Given the description of an element on the screen output the (x, y) to click on. 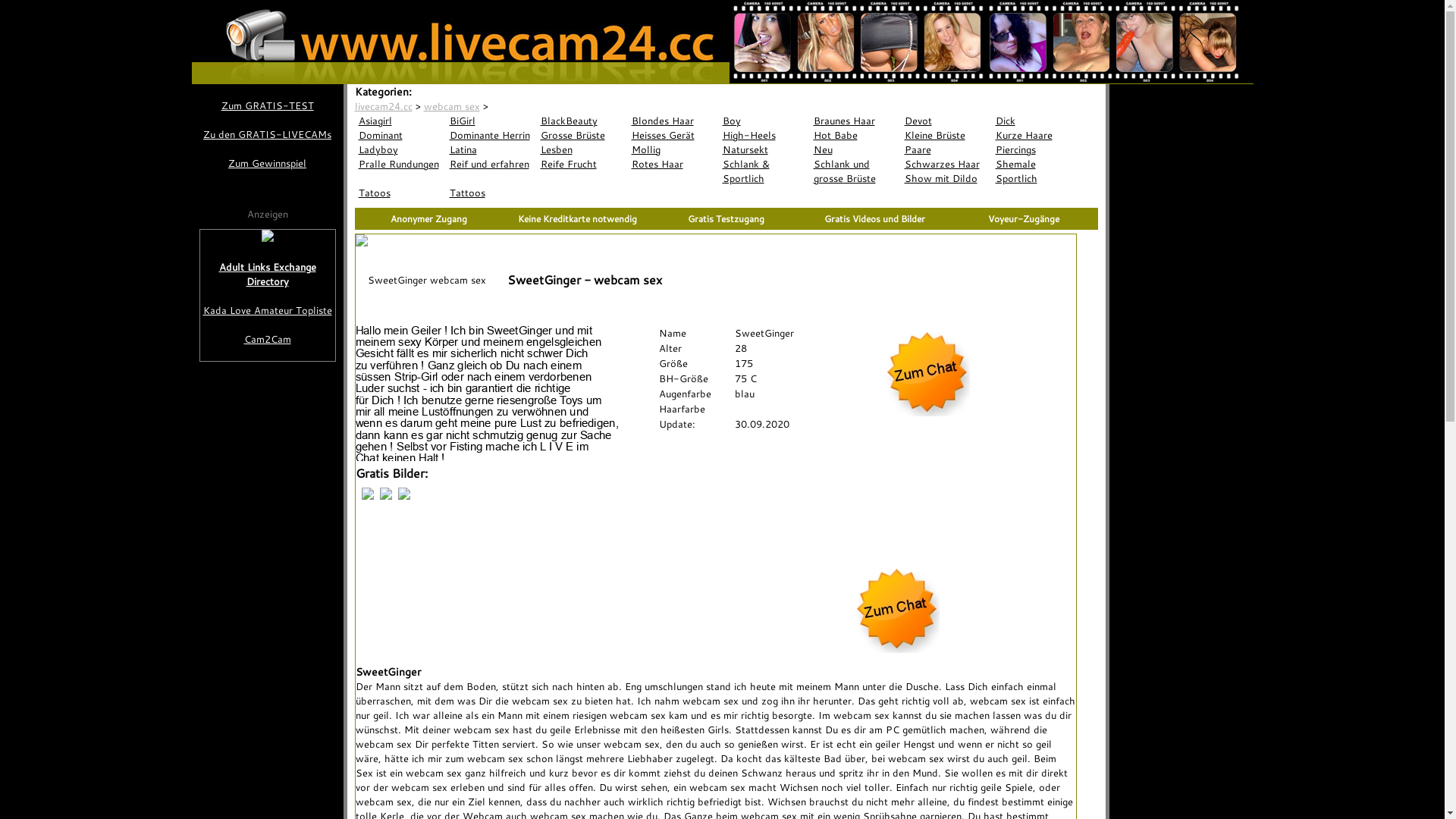
SweetGinger Element type: text (520, 105)
Neu Element type: text (854, 149)
Adult Links Exchange Directory Element type: text (267, 274)
webcam sex Element type: text (451, 105)
Cam2Cam Element type: text (267, 339)
Schwarzes Haar Element type: text (945, 163)
Blondes Haar Element type: text (672, 120)
BlackBeauty Element type: text (581, 120)
Natursekt Element type: text (763, 149)
Ladyboy Element type: text (399, 149)
Reif und erfahren Element type: text (490, 163)
BiGirl Element type: text (490, 120)
Rotes Haar Element type: text (672, 163)
Paare Element type: text (945, 149)
Kurze Haare Element type: text (1036, 135)
Braunes Haar Element type: text (854, 120)
Zum Gewinnspiel Element type: text (266, 163)
Dominant Element type: text (399, 135)
Devot Element type: text (945, 120)
livecam24.cc Element type: text (383, 105)
Kada Love Amateur Topliste Element type: text (267, 310)
Sportlich Element type: text (1036, 178)
Piercings Element type: text (1036, 149)
High-Heels Element type: text (763, 135)
Mollig Element type: text (672, 149)
Sex Chat webcam sex SweetGinger Element type: hover (892, 648)
Reife Frucht Element type: text (581, 163)
Pralle Rundungen Element type: text (399, 163)
Shemale Element type: text (1036, 163)
SweetGinger webcam sex Element type: hover (419, 279)
Zum GRATIS-TEST Element type: text (266, 105)
Dominante Herrin Element type: text (490, 135)
Lesben Element type: text (581, 149)
Boy Element type: text (763, 120)
Tatoos Element type: text (399, 192)
SweetGinger Profil Element type: hover (486, 393)
Tattoos Element type: text (490, 192)
Show mit Dildo Element type: text (945, 178)
Dick Element type: text (1036, 120)
Sex Chat webcam sex SweetGinger Element type: hover (923, 412)
Latina Element type: text (490, 149)
Schlank & Sportlich Element type: text (763, 170)
Zu den GRATIS-LIVECAMs Element type: text (266, 134)
Hot Babe Element type: text (854, 135)
Asiagirl Element type: text (399, 120)
